Given the description of an element on the screen output the (x, y) to click on. 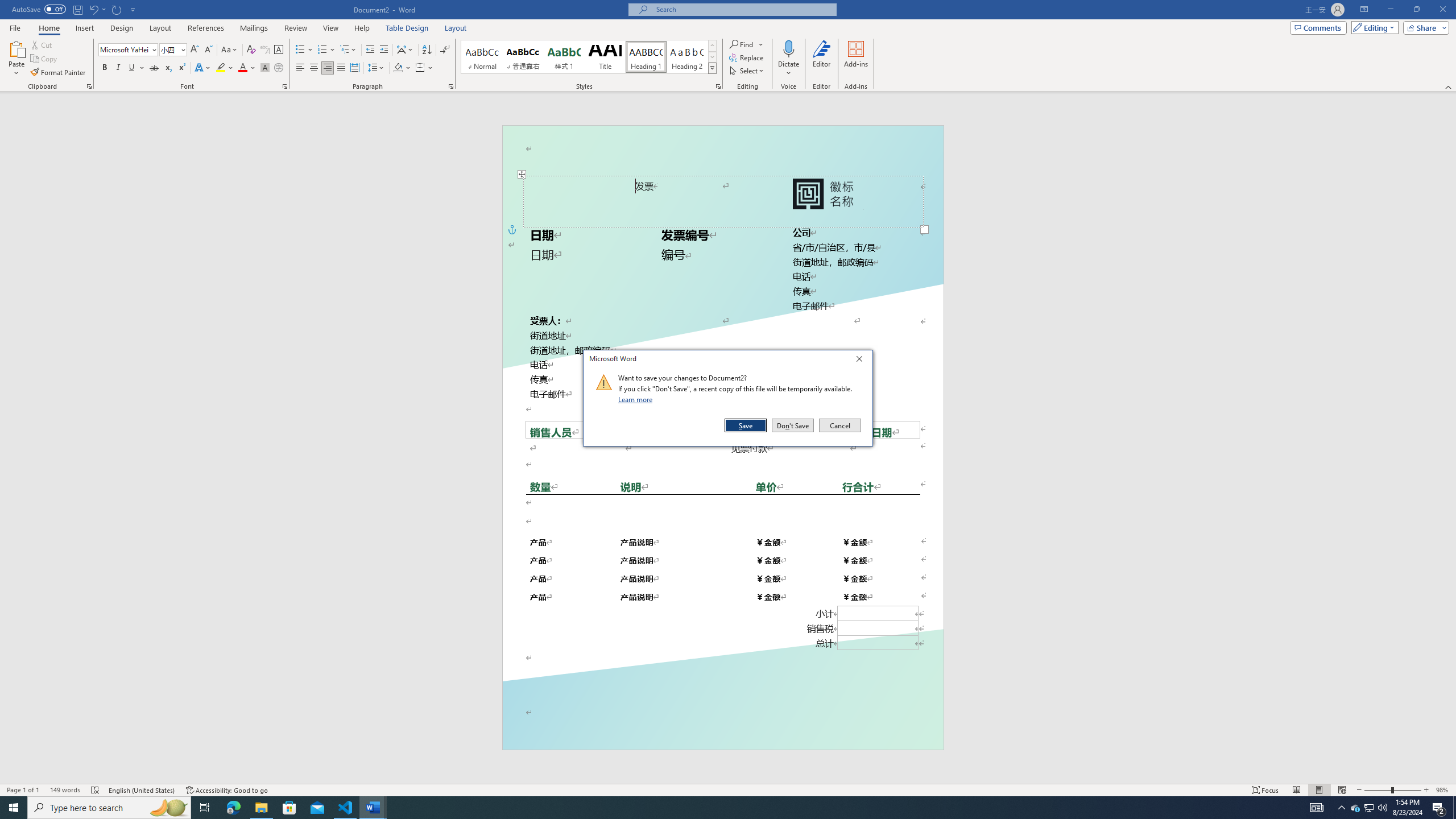
First Page Header -Section 1- (722, 140)
Learn more (636, 399)
Heading 2 (686, 56)
